Given the description of an element on the screen output the (x, y) to click on. 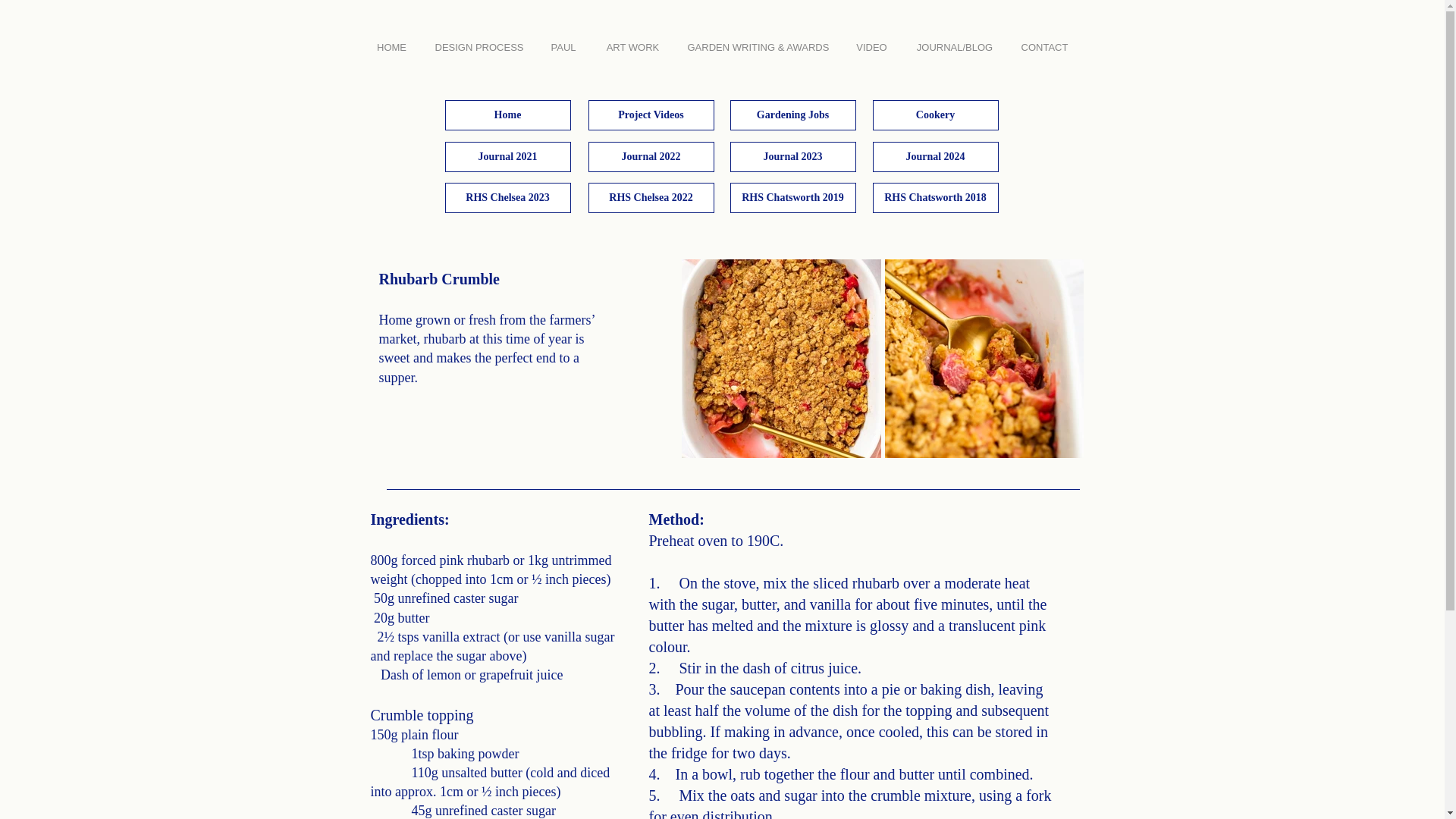
Home (507, 114)
Journal 2021 (507, 156)
RHS Chelsea 2022 (651, 197)
HOME (392, 40)
Journal 2022 (651, 156)
PAUL (563, 40)
Gardening Jobs (792, 114)
Cookery (934, 114)
CONTACT (1044, 40)
RHS Chelsea 2023 (507, 197)
Journal 2024 (934, 156)
VIDEO (871, 40)
ART WORK (631, 40)
RHS Chatsworth 2018 (934, 197)
Project Videos (651, 114)
